Given the description of an element on the screen output the (x, y) to click on. 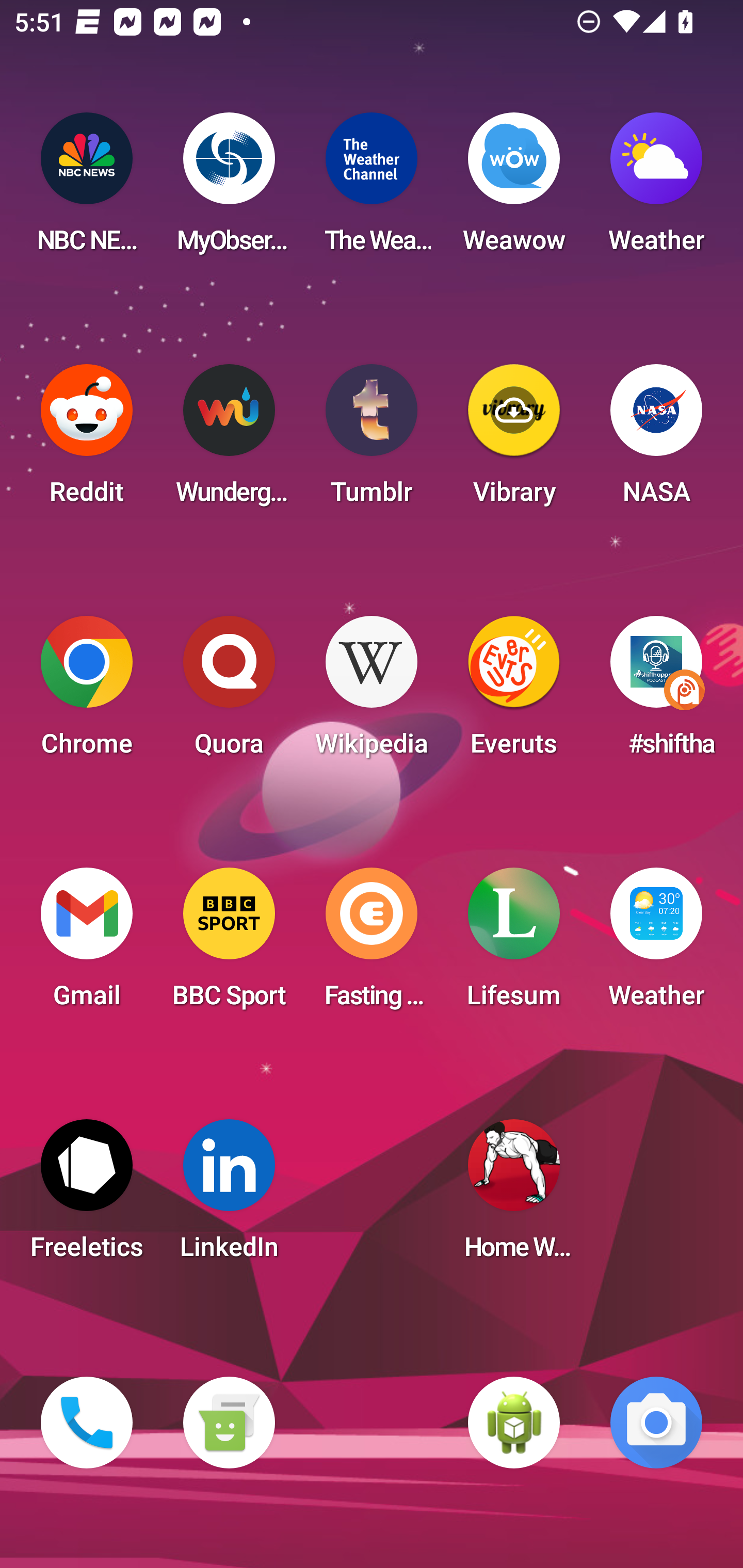
NBC NEWS (86, 188)
MyObservatory (228, 188)
The Weather Channel (371, 188)
Weawow (513, 188)
Weather (656, 188)
Reddit (86, 440)
Wunderground (228, 440)
Tumblr (371, 440)
Vibrary (513, 440)
NASA (656, 440)
Chrome (86, 692)
Quora (228, 692)
Wikipedia (371, 692)
Everuts (513, 692)
#shifthappens in the Digital Workplace Podcast (656, 692)
Gmail (86, 943)
BBC Sport (228, 943)
Fasting Coach (371, 943)
Lifesum (513, 943)
Weather (656, 943)
Freeletics (86, 1195)
LinkedIn (228, 1195)
Home Workout (513, 1195)
Phone (86, 1422)
Messaging (228, 1422)
WebView Browser Tester (513, 1422)
Camera (656, 1422)
